Given the description of an element on the screen output the (x, y) to click on. 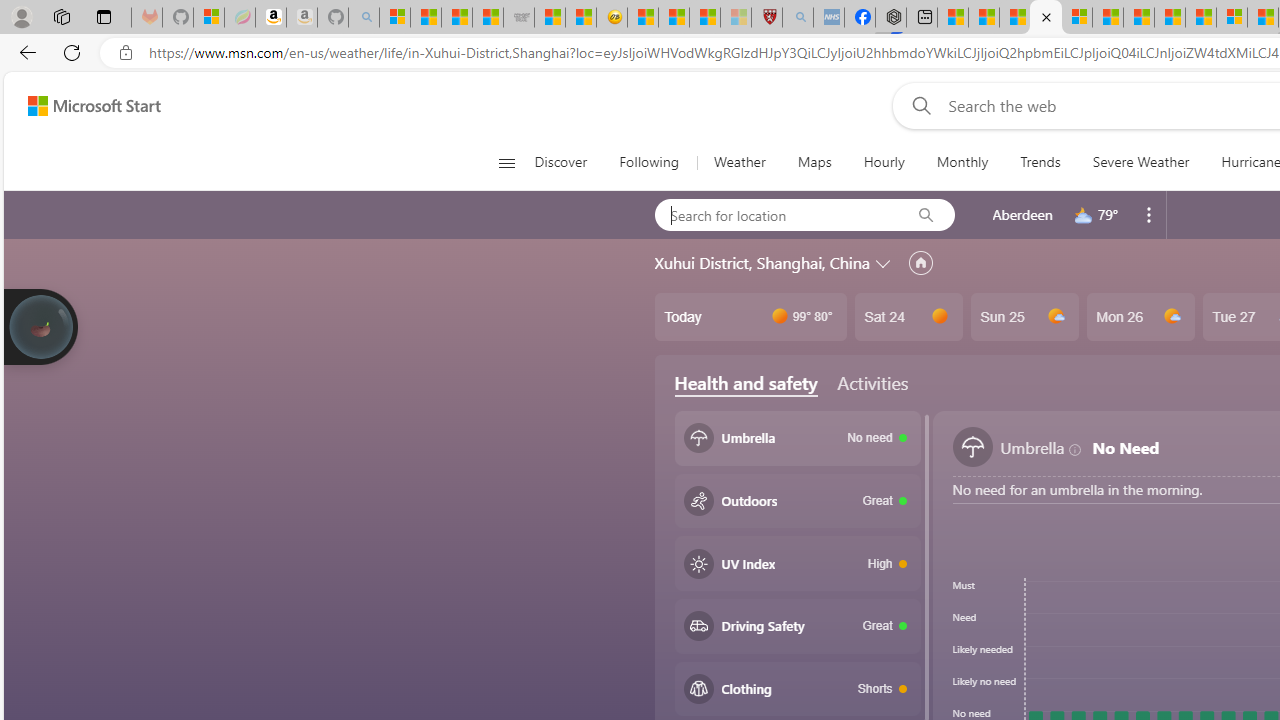
Severe Weather (1140, 162)
Skip to footer (82, 105)
Following (649, 162)
Change location (884, 262)
Science - MSN (704, 17)
Trends (1040, 162)
Back (24, 52)
Remove location (1149, 214)
Activities (872, 382)
New tab (921, 17)
Mon 26 (1140, 317)
Recipes - MSN (642, 17)
Mon 26 (1140, 317)
